Given the description of an element on the screen output the (x, y) to click on. 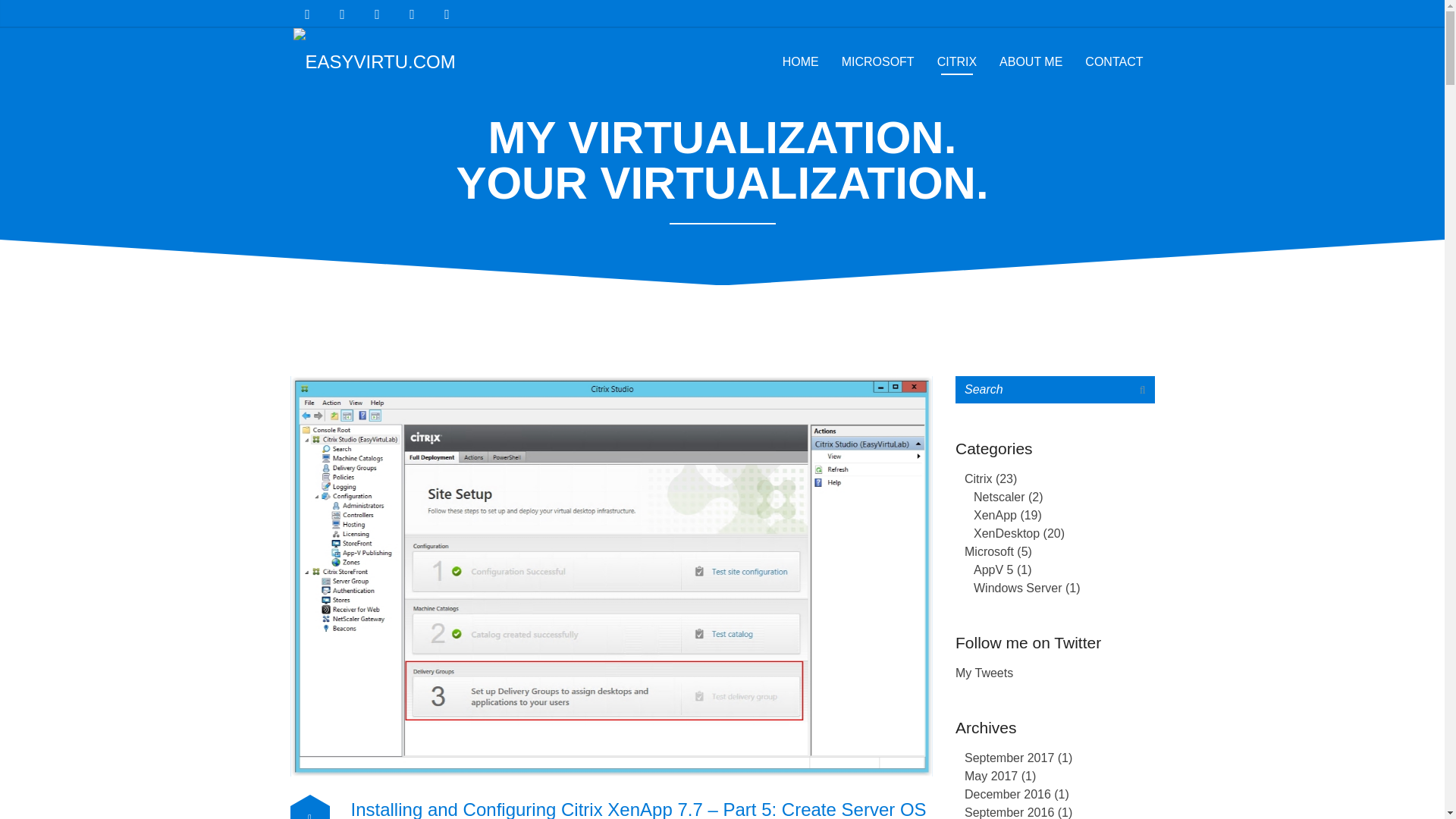
Netscaler (999, 496)
ABOUT ME (1031, 61)
Search (1142, 389)
CONTACT (1114, 61)
XenApp (995, 514)
Citrix (977, 478)
MICROSOFT (877, 61)
CITRIX (957, 61)
